Given the description of an element on the screen output the (x, y) to click on. 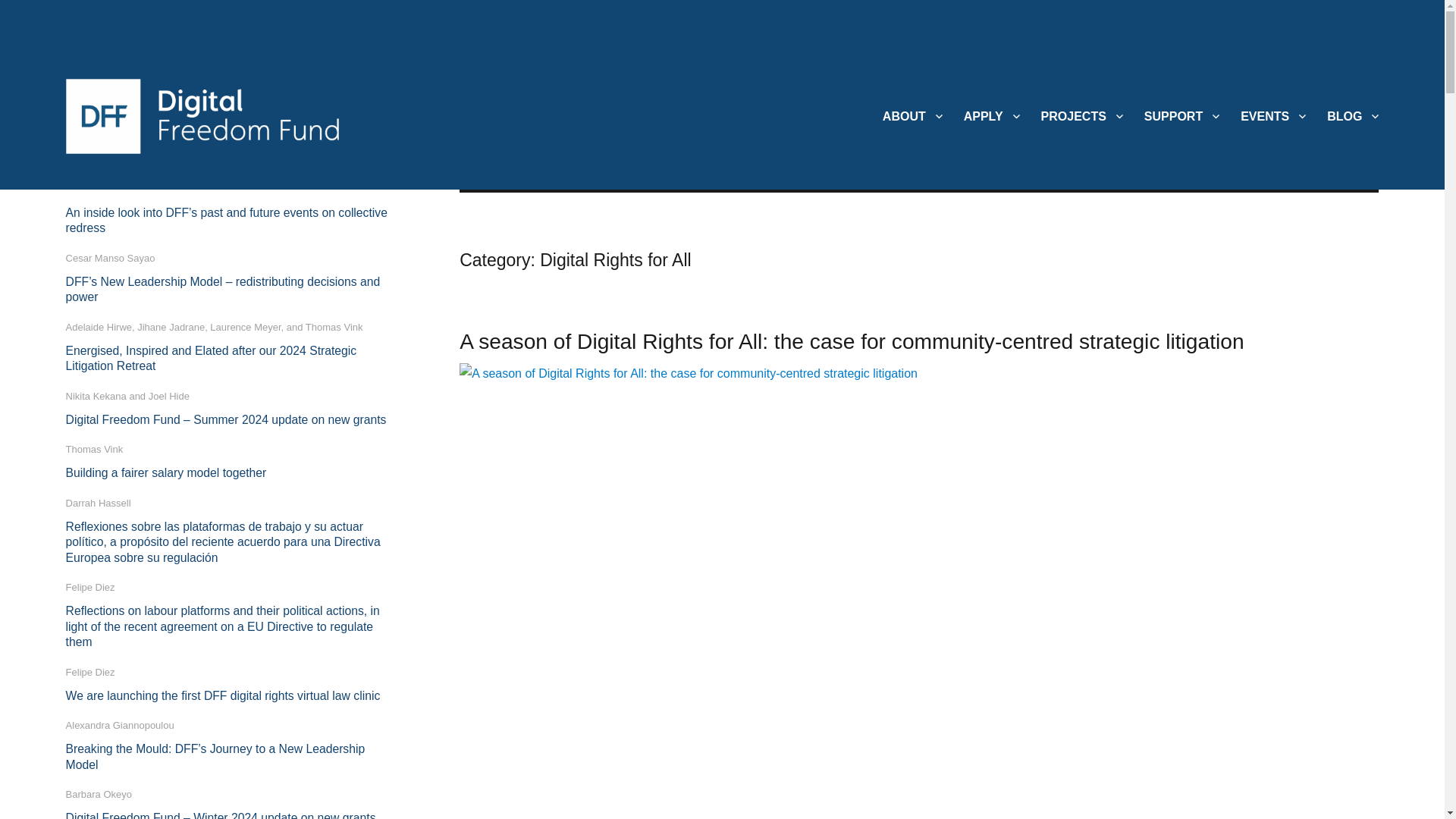
PROJECTS (1082, 115)
APPLY (991, 115)
Digital Freedom Fund (174, 177)
ABOUT (912, 115)
